Given the description of an element on the screen output the (x, y) to click on. 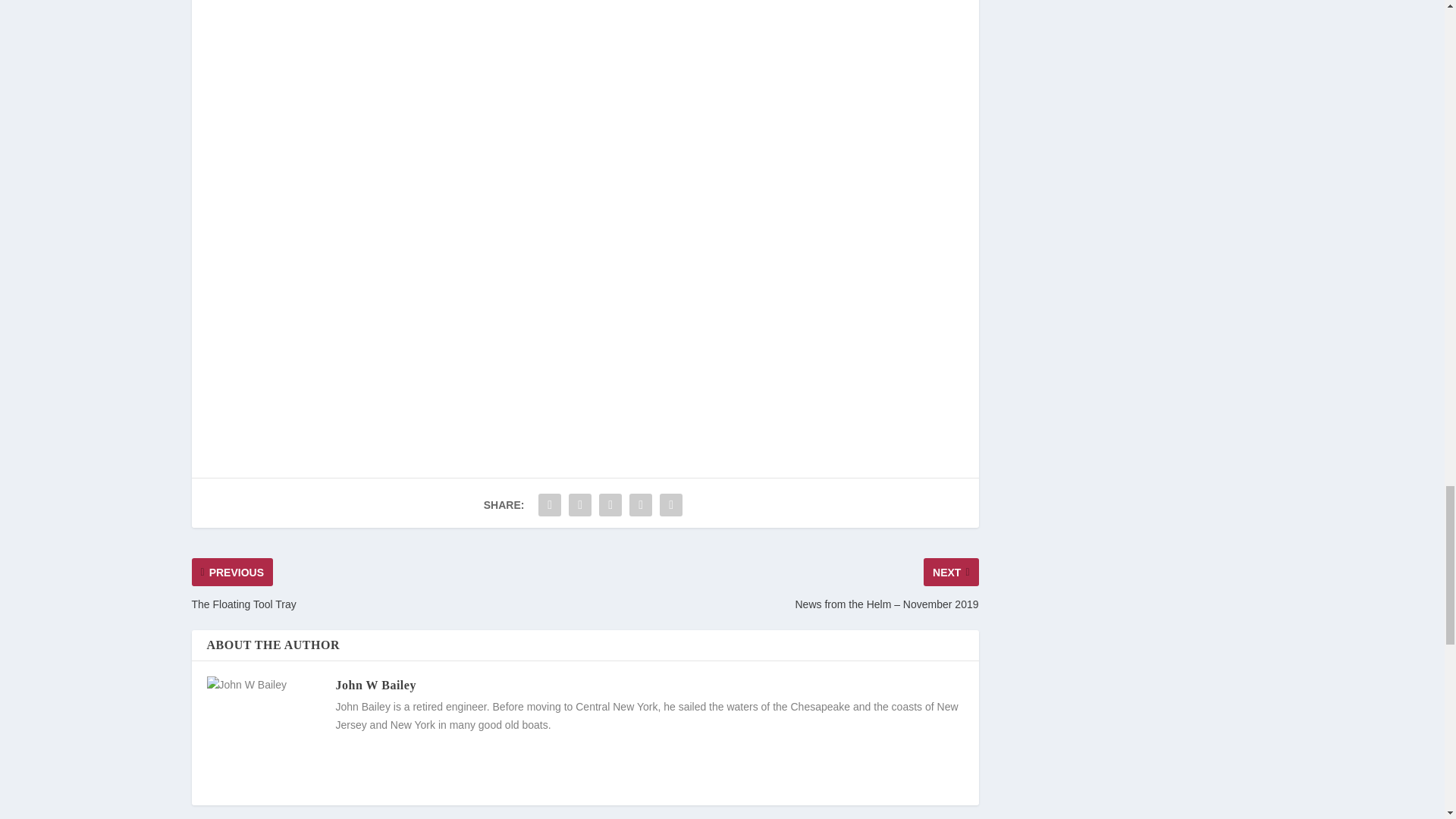
Share "Kiltie and I" via Email (641, 504)
View all posts by John W Bailey (374, 684)
Share "Kiltie and I" via Twitter (579, 504)
Share "Kiltie and I" via Pinterest (610, 504)
Share "Kiltie and I" via Facebook (549, 504)
John W Bailey (374, 684)
Share "Kiltie and I" via Print (670, 504)
